Given the description of an element on the screen output the (x, y) to click on. 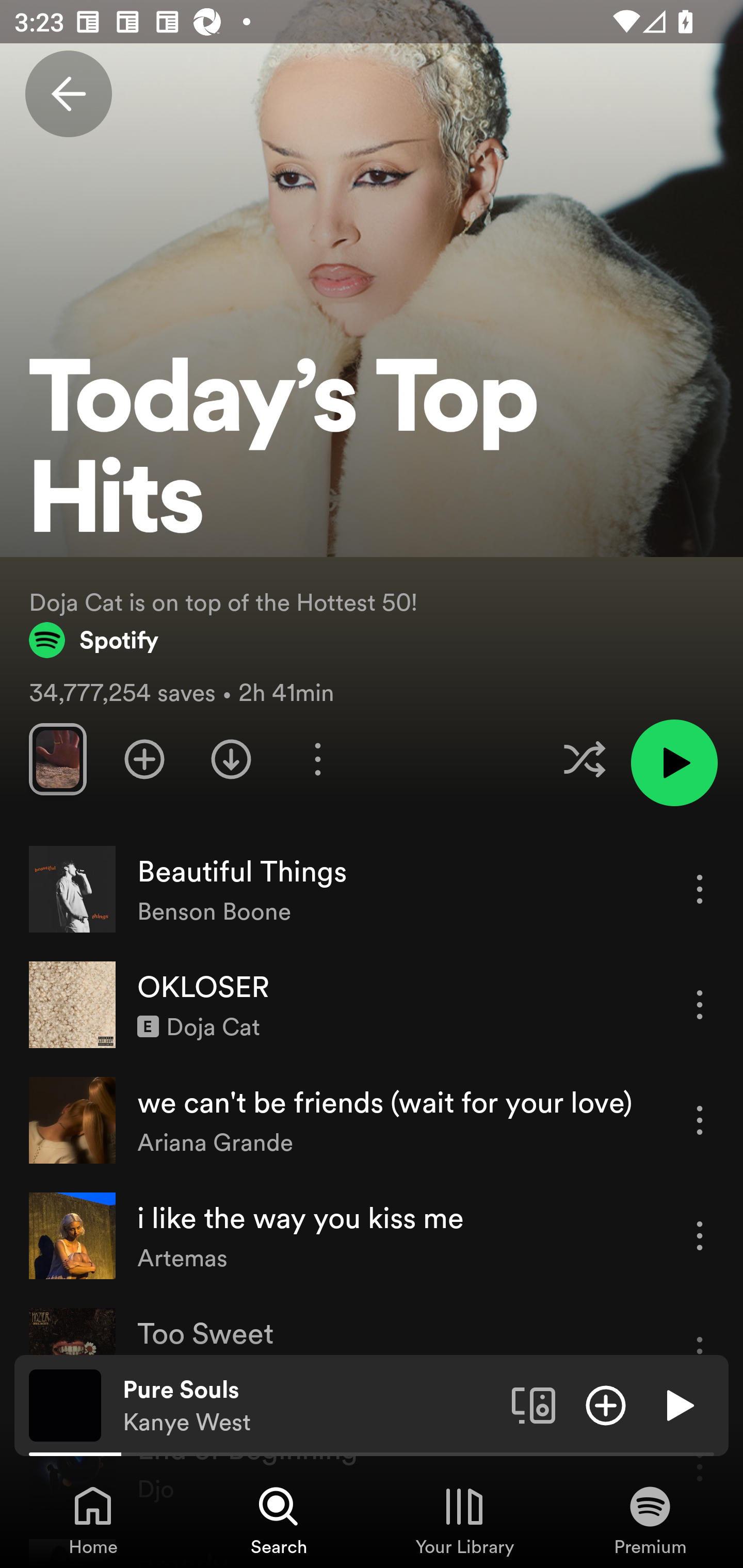
Back (68, 93)
Spotify (93, 640)
Swipe through previews of tracks in this playlist. (57, 759)
Add playlist to Your Library (144, 759)
Download (230, 759)
More options for playlist Today’s Top Hits (317, 759)
Enable shuffle for this playlist (583, 759)
Play playlist (674, 762)
More options for song Beautiful Things (699, 888)
More options for song OKLOSER (699, 1004)
More options for song i like the way you kiss me (699, 1236)
Too Sweet Hozier More options for song Too Sweet (371, 1351)
Pure Souls Kanye West (309, 1405)
The cover art of the currently playing track (64, 1404)
